Given the description of an element on the screen output the (x, y) to click on. 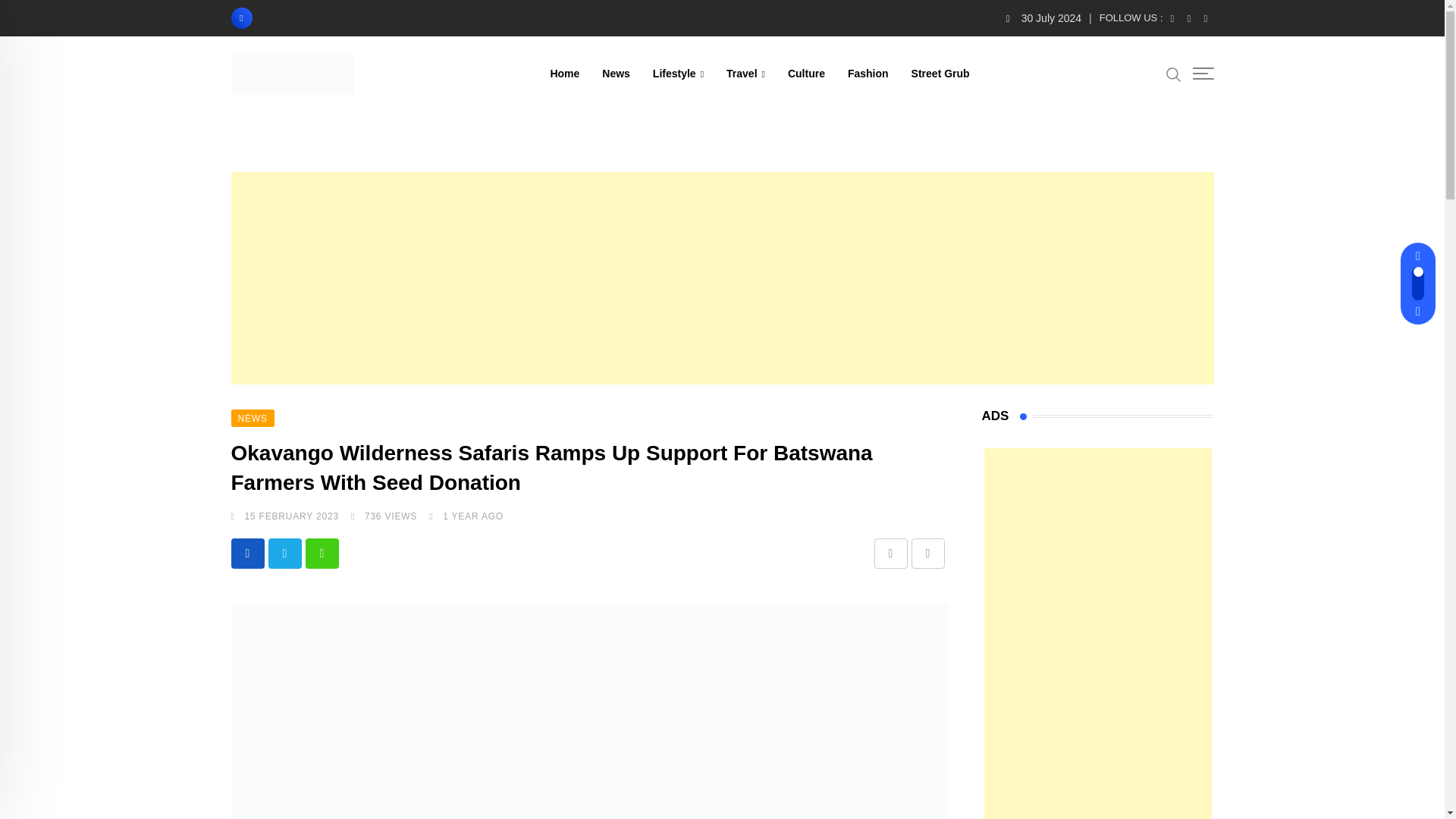
Street Grub (940, 73)
Fashion (867, 73)
Search (1173, 73)
Travel (745, 73)
Lifestyle (678, 73)
News (616, 73)
Home (564, 73)
Culture (805, 73)
